Given the description of an element on the screen output the (x, y) to click on. 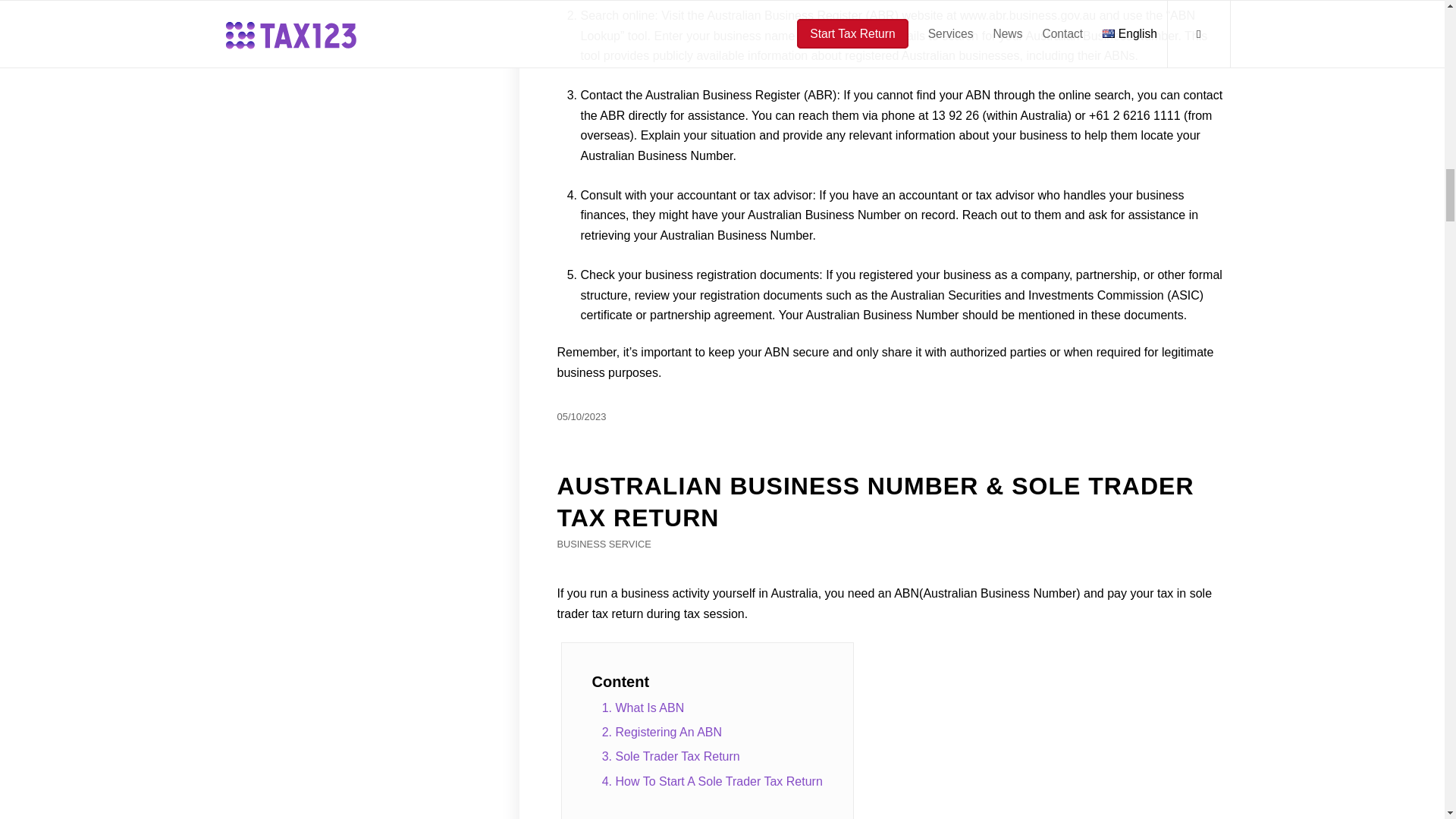
BUSINESS SERVICE (603, 543)
How To Start A Sole Trader Tax Return (713, 781)
Registering An ABN (713, 732)
Sole Trader Tax Return (713, 756)
What Is ABN (713, 708)
